Given the description of an element on the screen output the (x, y) to click on. 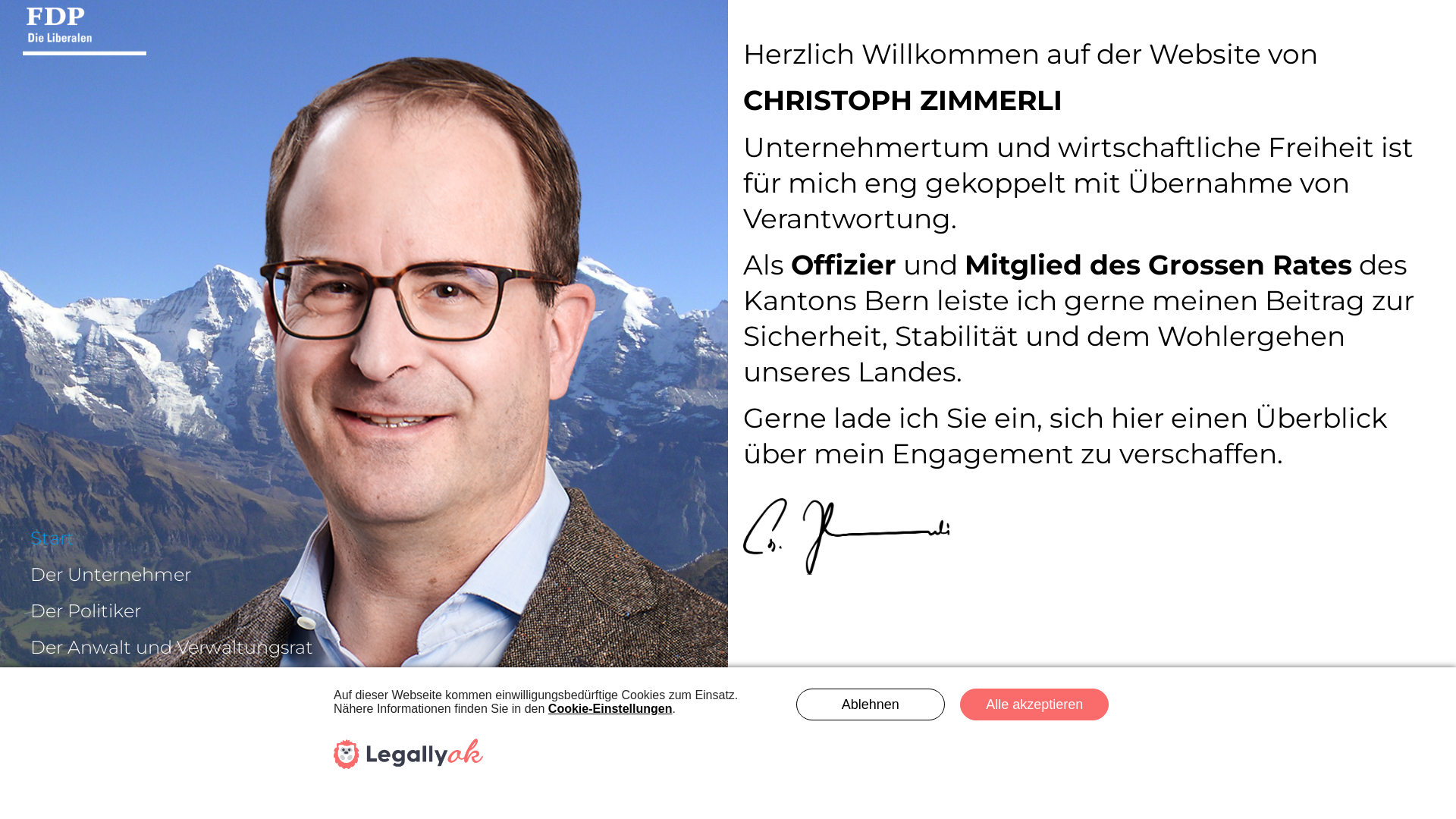
Datenschutz Element type: text (367, 793)
Der Familienmensch Element type: text (367, 683)
Der Offizier Element type: text (367, 720)
Der Anwalt und Verwaltungsrat Element type: text (367, 647)
Der Unternehmer Element type: text (367, 574)
Start Element type: text (367, 538)
Der Politiker Element type: text (367, 611)
